Given the description of an element on the screen output the (x, y) to click on. 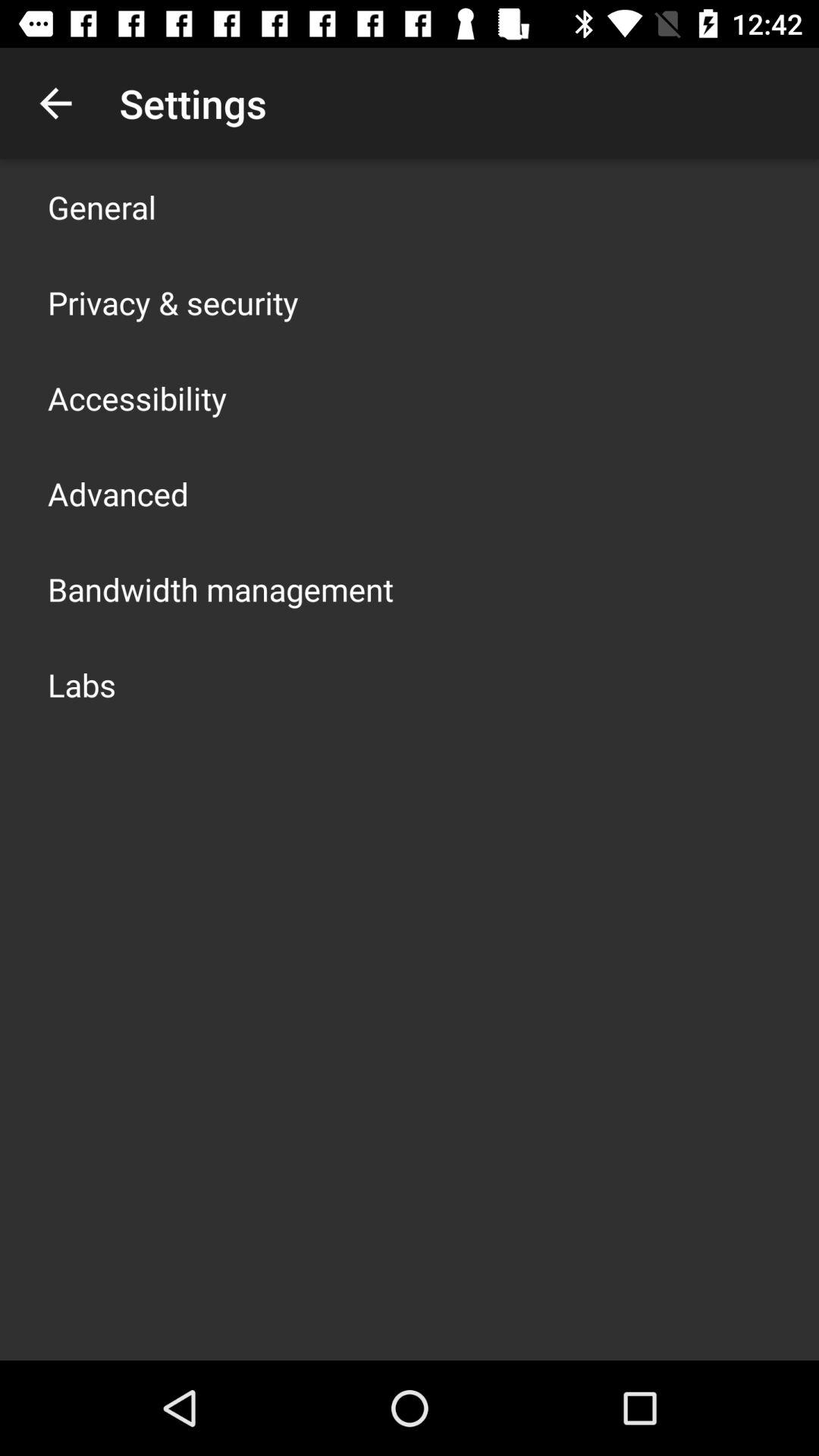
swipe to the advanced icon (117, 493)
